Given the description of an element on the screen output the (x, y) to click on. 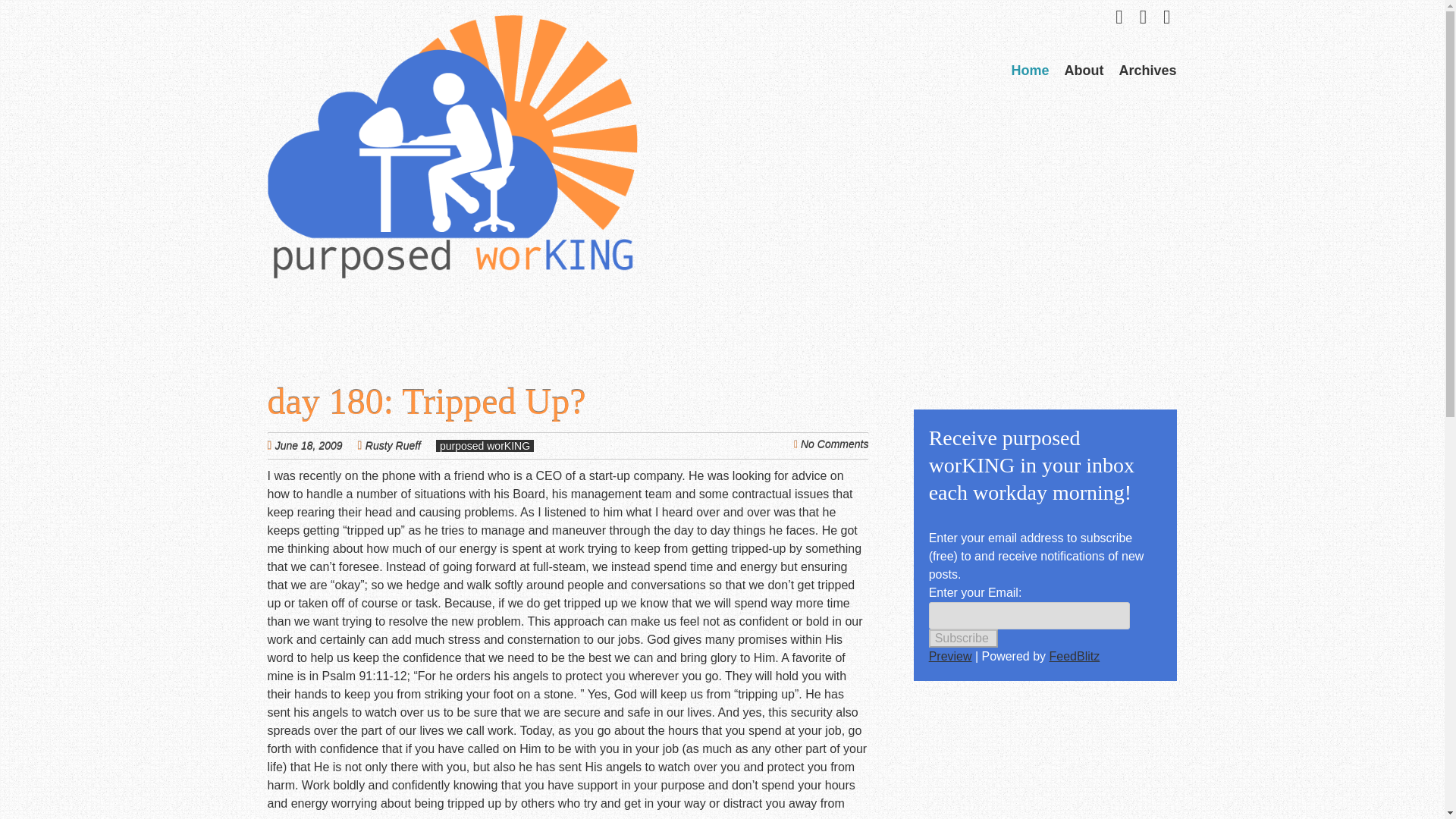
purposed worKING (484, 445)
June 18, 2009 (316, 445)
No Comments (833, 444)
Permalink to day 180: Tripped Up? (425, 401)
Archives (1147, 70)
Rusty Rueff (392, 445)
Skip to content (1035, 69)
View all posts by Rusty Rueff (392, 445)
Skip to content (1035, 69)
Friend me on Facebook (1143, 16)
Follow me on Twitter (1119, 16)
purposed worKING (451, 252)
Preview (950, 656)
Home (1029, 70)
About (1083, 70)
